Given the description of an element on the screen output the (x, y) to click on. 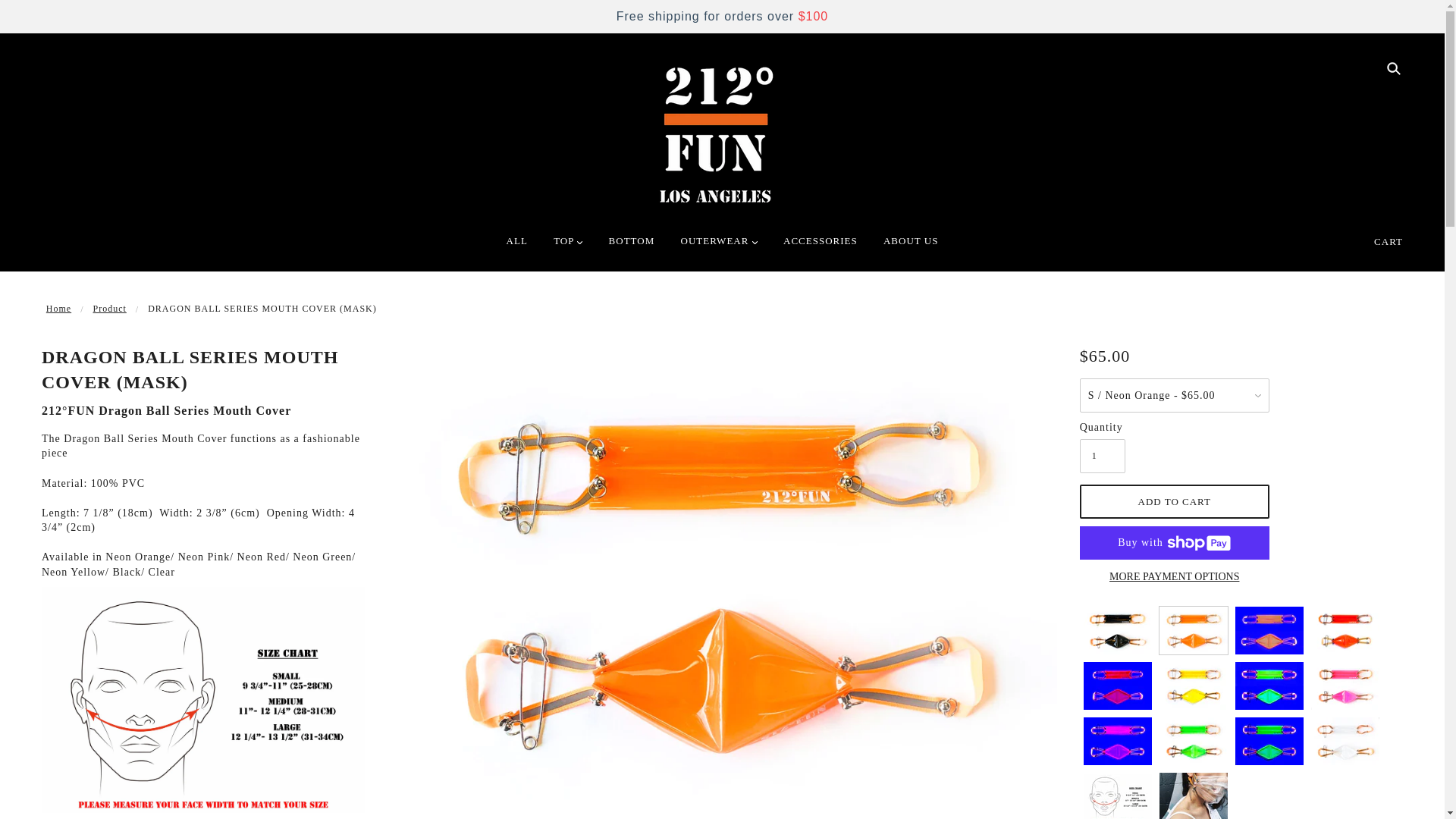
ABOUT US Element type: text (910, 246)
OUTERWEAR Element type: text (718, 246)
Product Element type: text (108, 308)
ALL Element type: text (517, 246)
BOTTOM Element type: text (631, 246)
ACCESSORIES Element type: text (820, 246)
Home Element type: text (58, 308)
Add to Cart Element type: text (1174, 500)
MORE PAYMENT OPTIONS Element type: text (1174, 576)
CART Element type: text (1388, 241)
TOP Element type: text (567, 246)
